Given the description of an element on the screen output the (x, y) to click on. 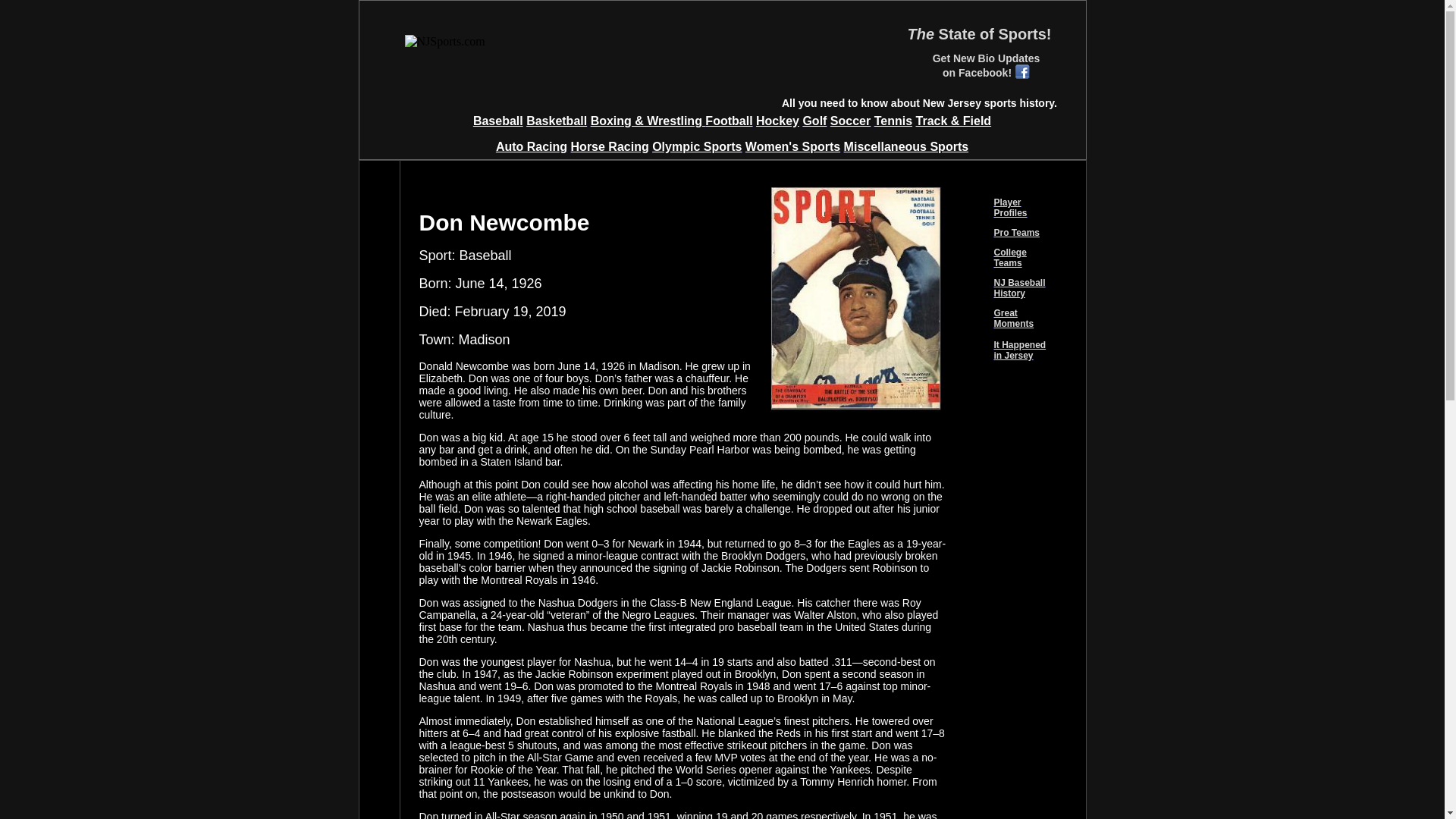
Player Profiles (1009, 207)
Olympic Sports (696, 146)
It Happened in Jersey (1018, 350)
Baseball (497, 120)
Hockey (777, 120)
Miscellaneous Sports (906, 146)
Pro Teams (1015, 232)
Women's Sports (792, 146)
Auto Racing (531, 146)
Basketball (555, 120)
Soccer (849, 120)
College Teams (1009, 257)
Golf (814, 120)
Great Moments (1012, 318)
Football (728, 120)
